Given the description of an element on the screen output the (x, y) to click on. 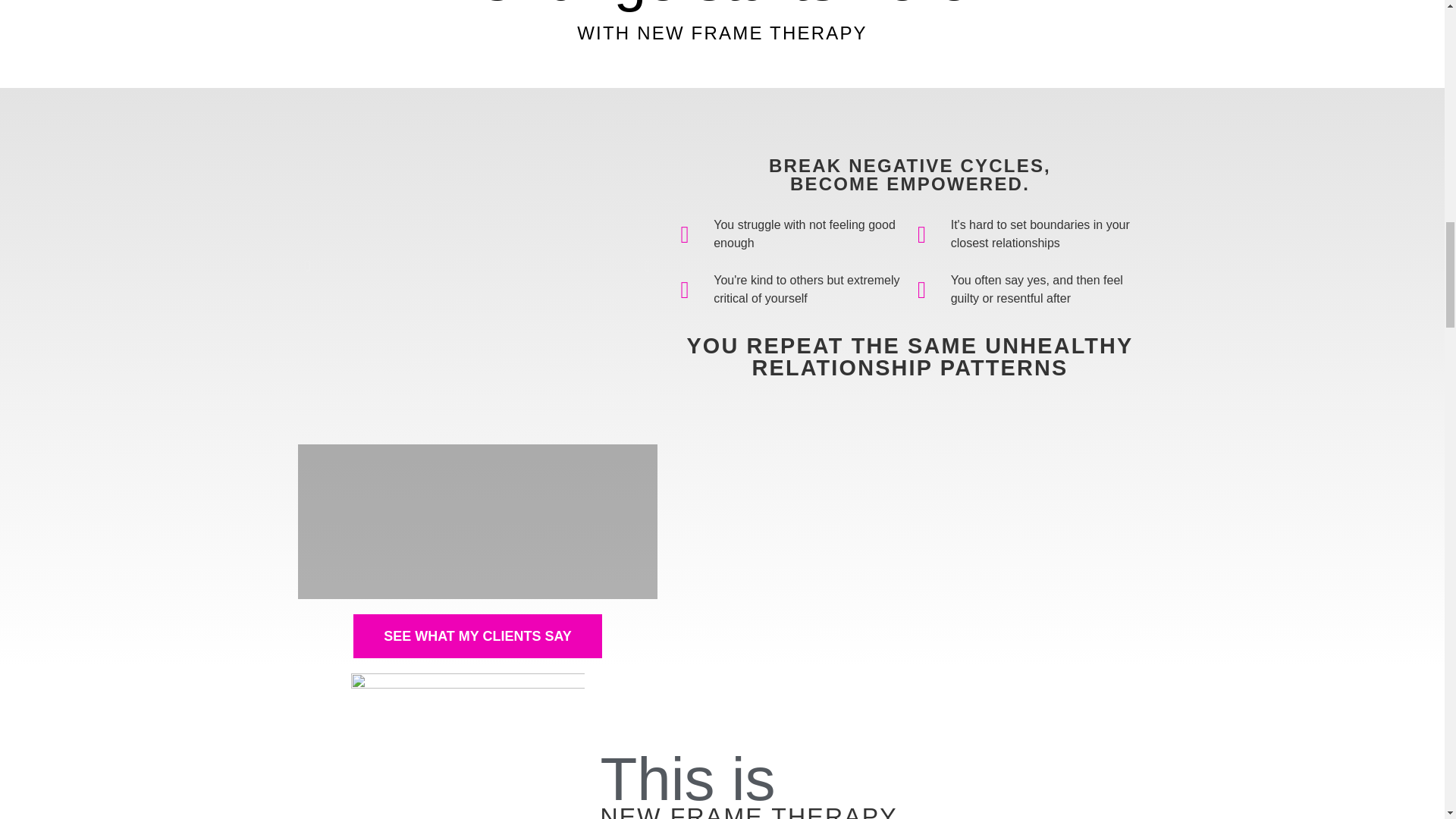
SEE WHAT MY CLIENTS SAY (477, 636)
